Given the description of an element on the screen output the (x, y) to click on. 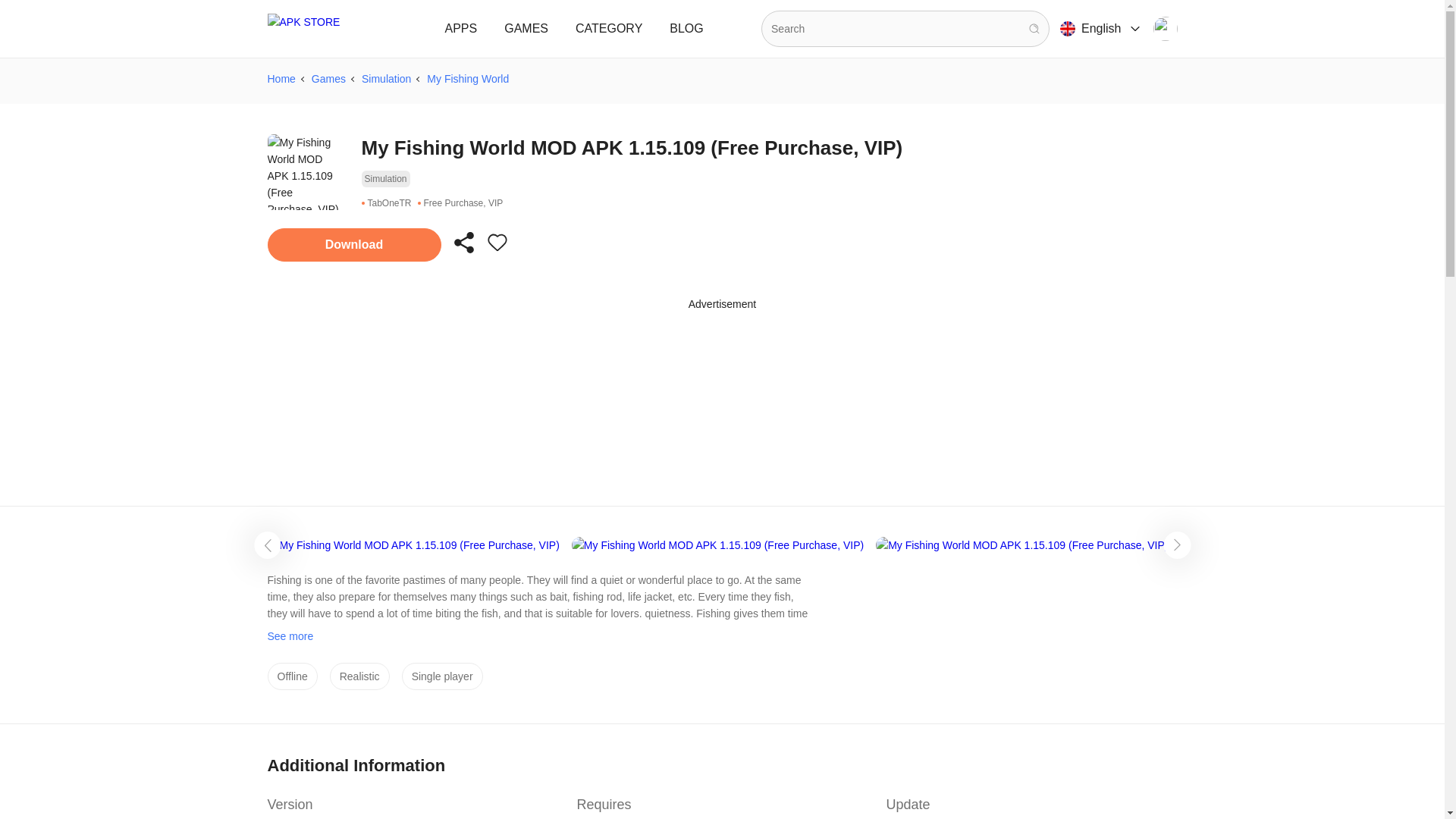
BLOG (686, 28)
Home (280, 78)
APPS (460, 28)
Simulation (385, 78)
Simulation (385, 178)
Realistic (360, 676)
CATEGORY (608, 28)
GAMES (526, 28)
Games (328, 78)
Offline (291, 676)
